Given the description of an element on the screen output the (x, y) to click on. 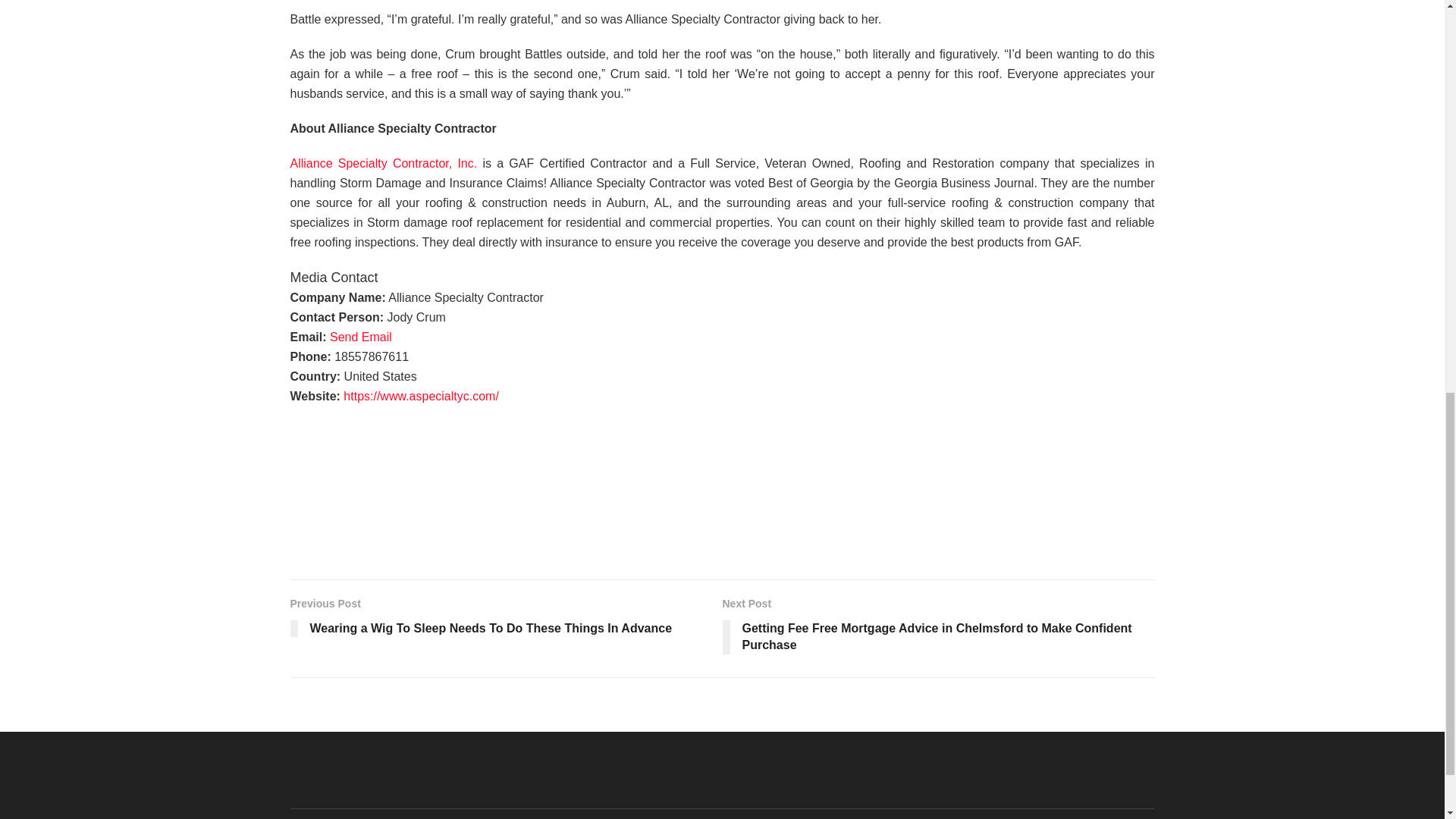
Alliance Specialty Contractor, Inc. (383, 163)
Send Email (360, 336)
